Given the description of an element on the screen output the (x, y) to click on. 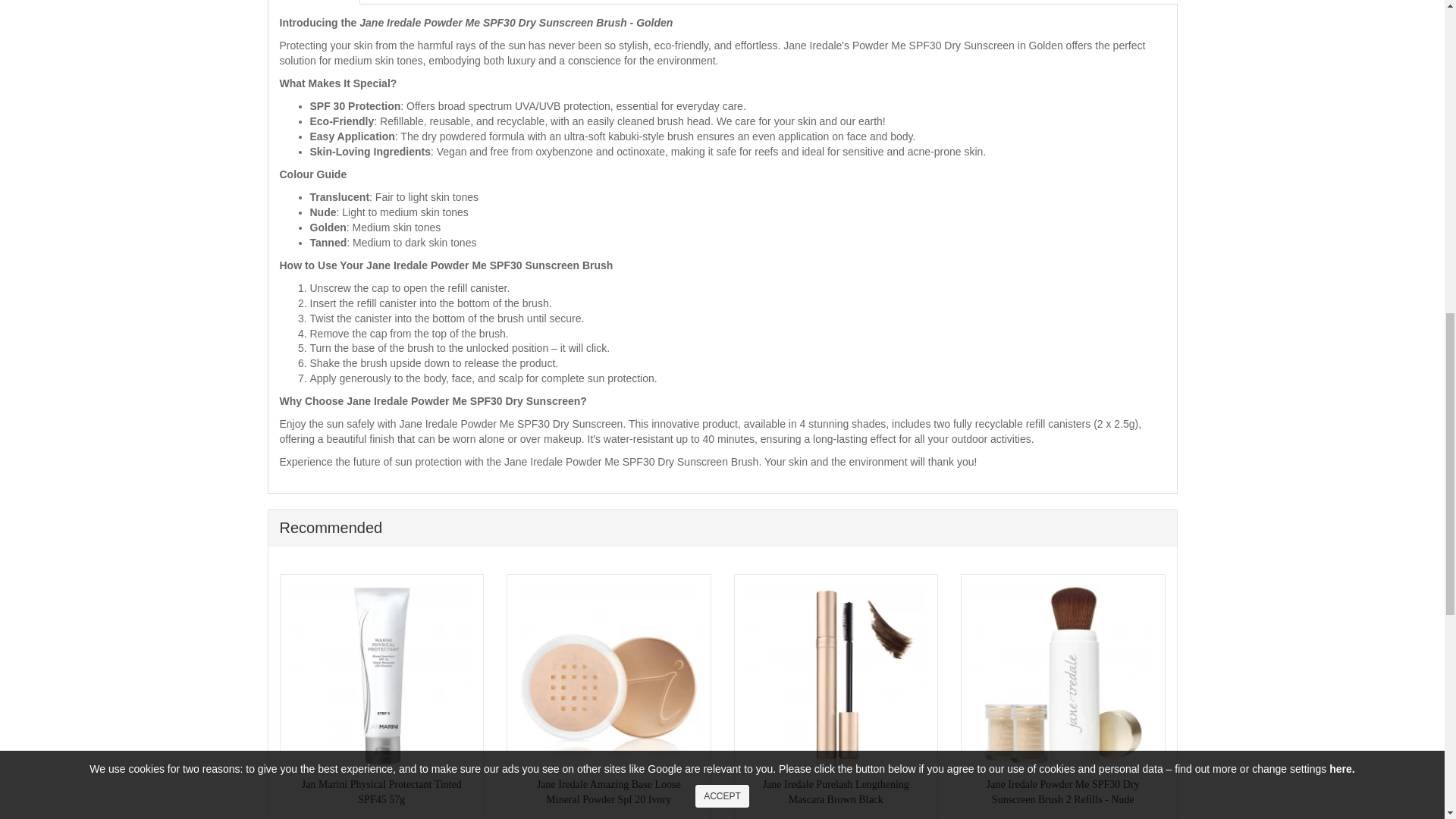
Jan Marini Physical Protectant Tinted SPF45 57g (381, 676)
Jane Iredale Amazing Base Loose Mineral Powder Spf 20 Ivory (608, 676)
Jane Iredale Purelash Lengthening Mascara Brown Black (835, 676)
